Given the description of an element on the screen output the (x, y) to click on. 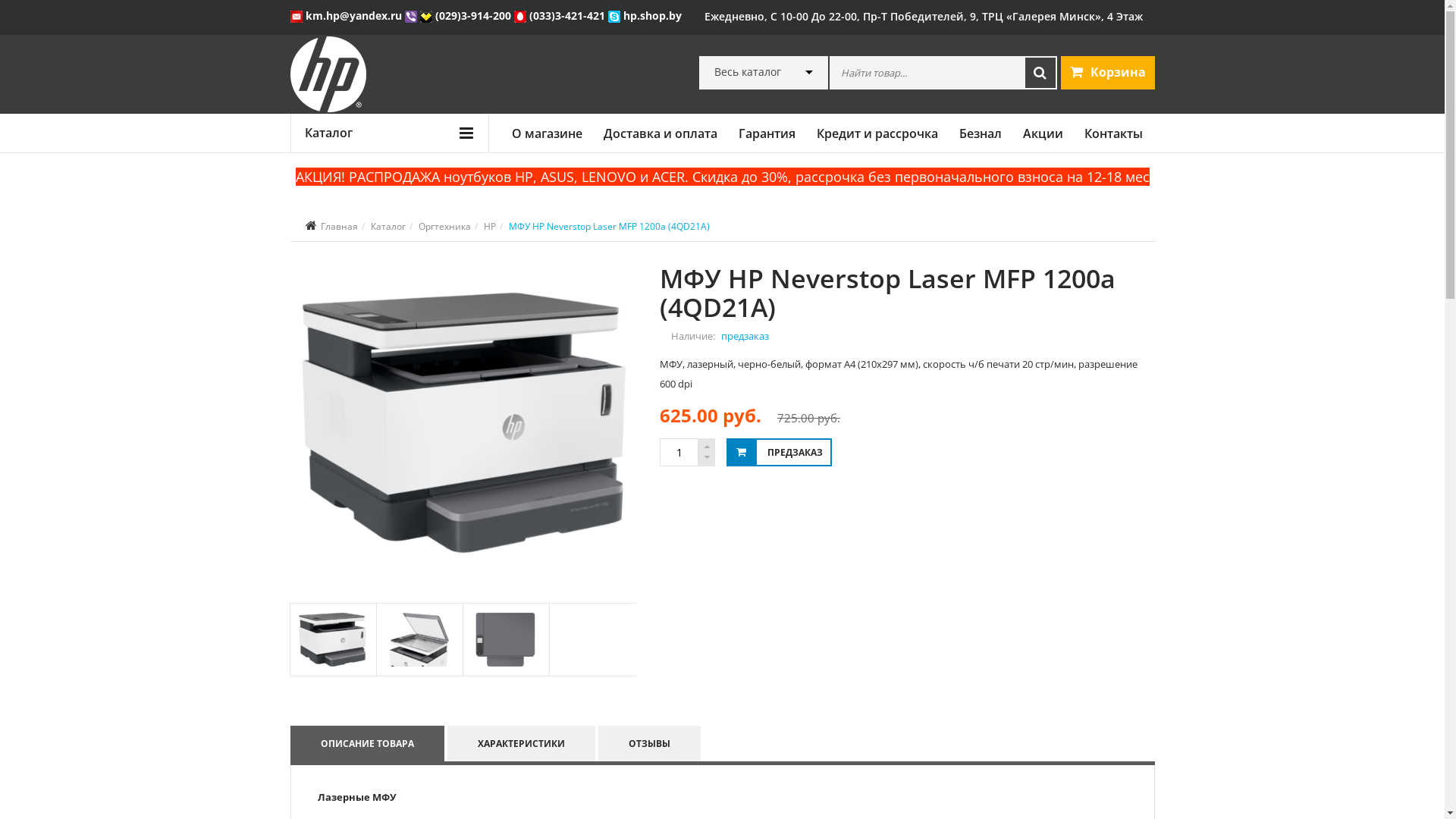
- Element type: text (706, 457)
Viber Element type: hover (412, 15)
(029)3-914-200 Element type: text (467, 15)
HP Element type: text (489, 225)
hp.shop.by Element type: text (644, 15)
+ Element type: text (706, 446)
(033)3-421-421 Element type: text (561, 15)
km.hp@yandex.ru Element type: text (346, 15)
